Given the description of an element on the screen output the (x, y) to click on. 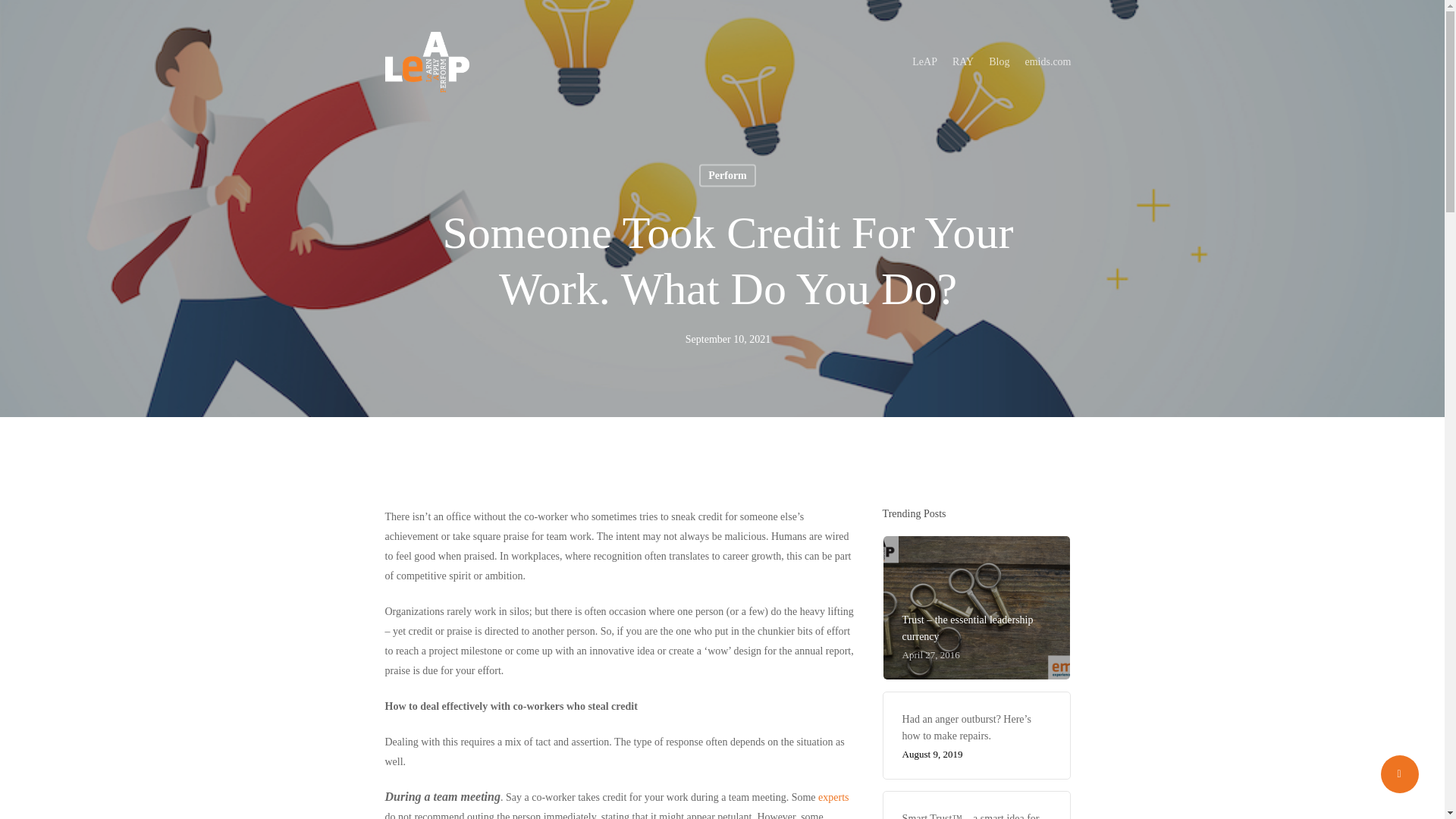
LeAP (924, 61)
Blog (998, 61)
Perform (726, 174)
RAY (963, 61)
emids.com (1047, 61)
experts (833, 797)
